Given the description of an element on the screen output the (x, y) to click on. 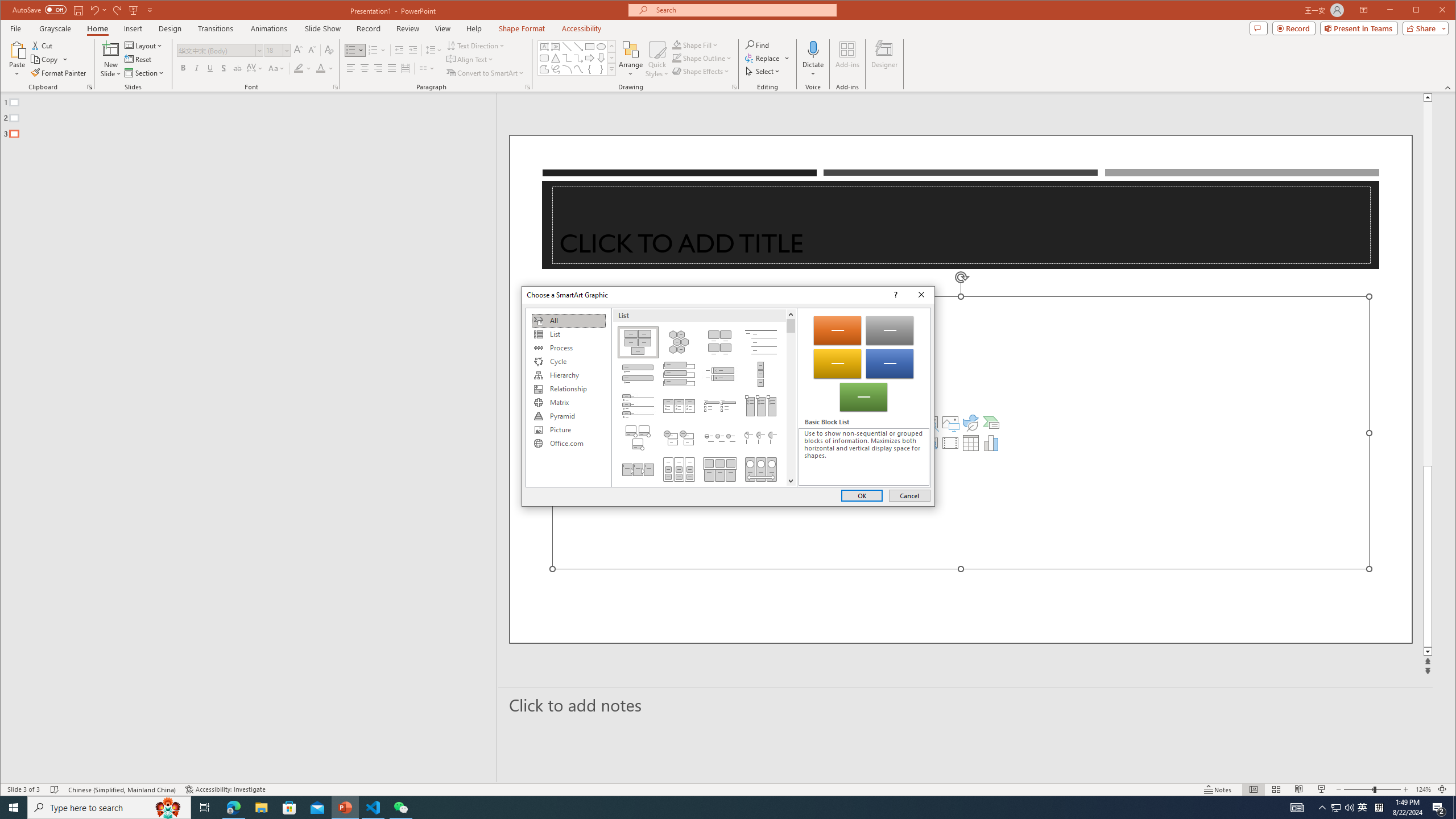
Layout (143, 45)
Decrease Font Size (311, 49)
Shape Format (521, 28)
Character Spacing (254, 68)
Rectangle (589, 46)
Connector: Elbow (567, 57)
Increasing Circle Process (719, 437)
Font (215, 50)
Paste (17, 59)
Class: NetUIScrollBar (790, 397)
Picture (568, 429)
Process (568, 347)
Shape Fill (695, 44)
